Given the description of an element on the screen output the (x, y) to click on. 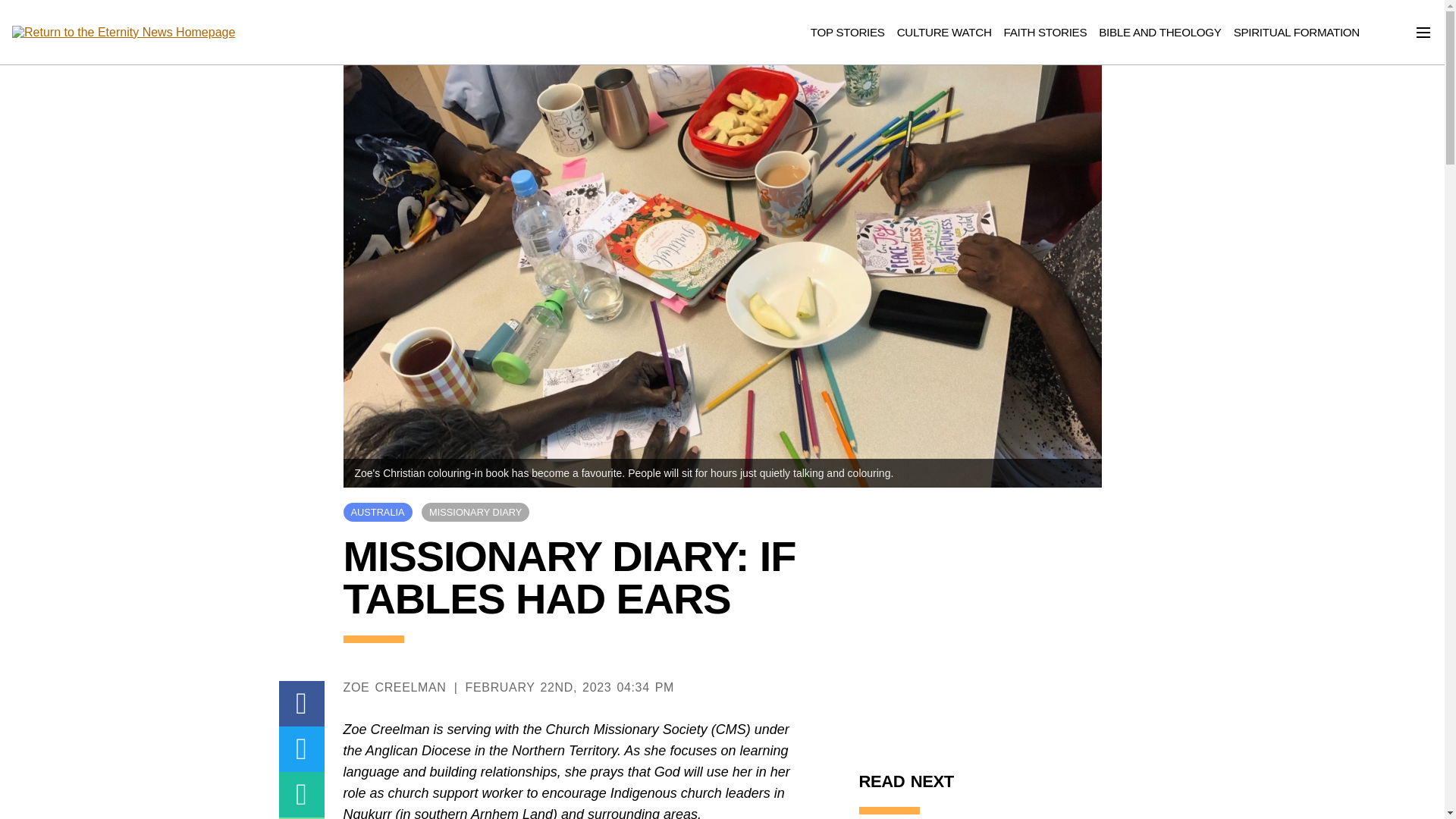
BIBLE AND THEOLOGY (1160, 32)
SPIRITUAL FORMATION (1296, 32)
FAITH STORIES (1045, 32)
Return to the Eternity News Homepage (122, 32)
CULTURE WATCH (943, 32)
Share on Facebook (301, 703)
TOP STORIES (847, 32)
AUSTRALIA (377, 511)
Share on Twitter (301, 749)
ZOE CREELMAN (393, 686)
